Given the description of an element on the screen output the (x, y) to click on. 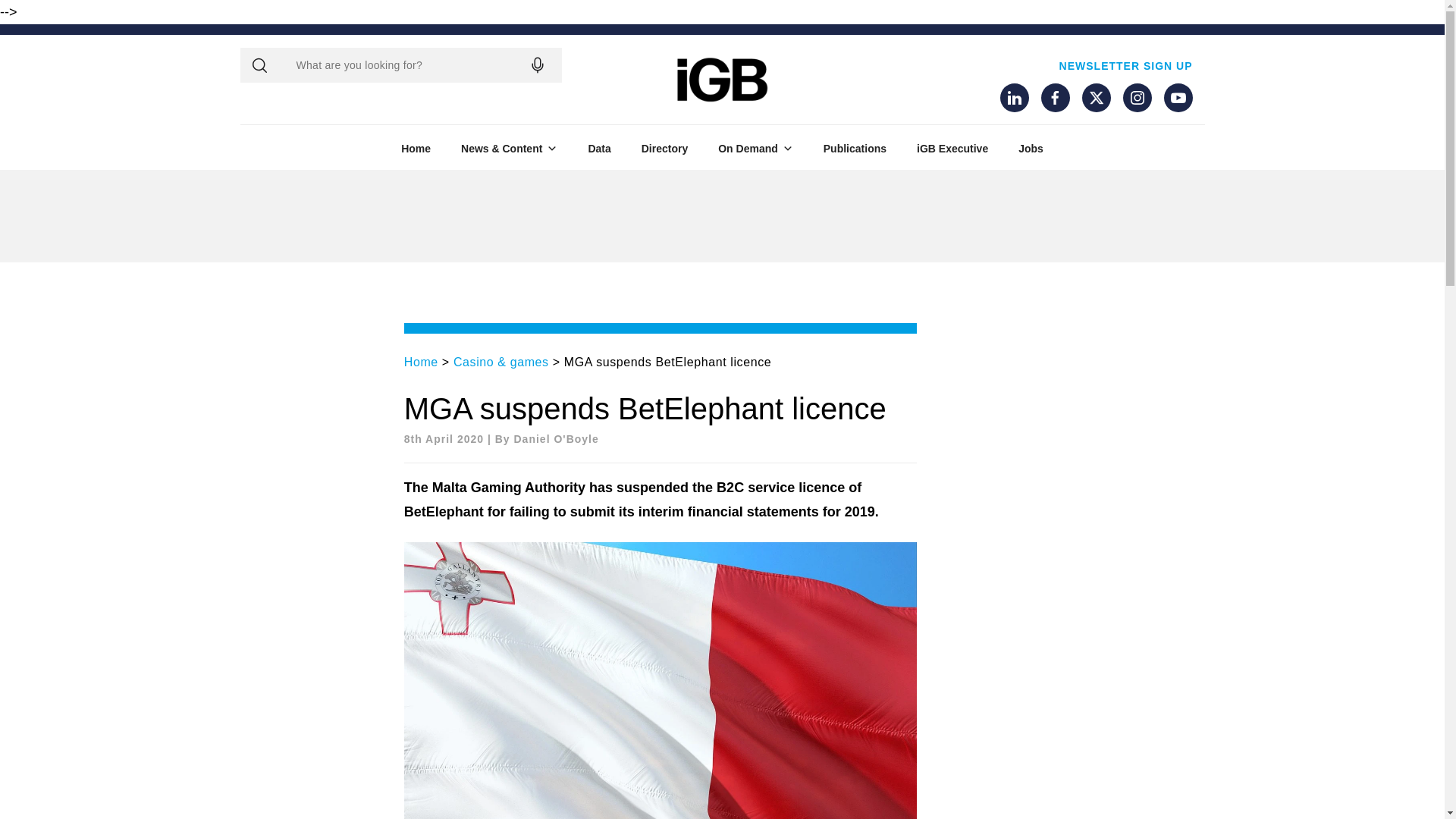
YouTube (1177, 97)
NEWSLETTER SIGN UP (1125, 65)
Twitter (1095, 97)
LinkedIn (1012, 97)
Instagram (1136, 97)
Facebook (1054, 97)
Home (415, 148)
